Given the description of an element on the screen output the (x, y) to click on. 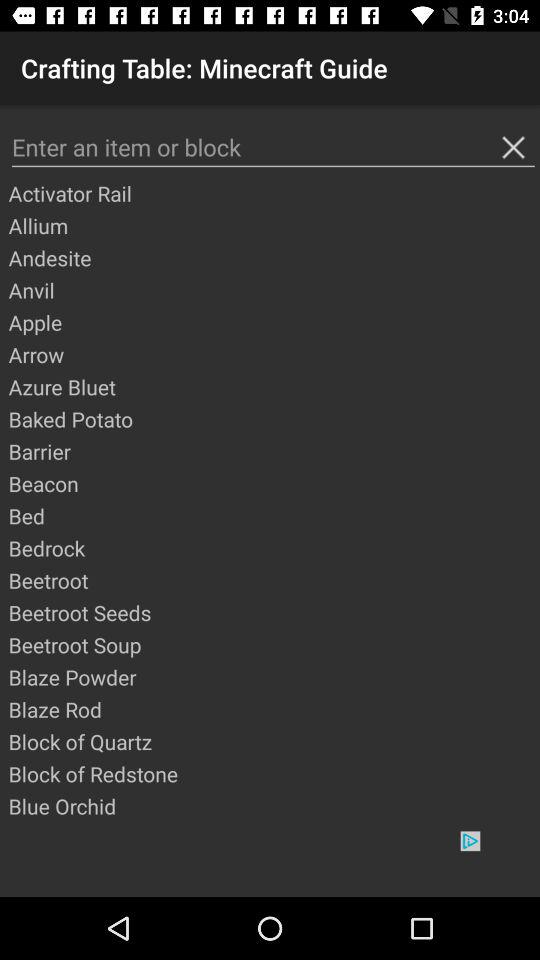
swipe to arrow app (273, 354)
